Given the description of an element on the screen output the (x, y) to click on. 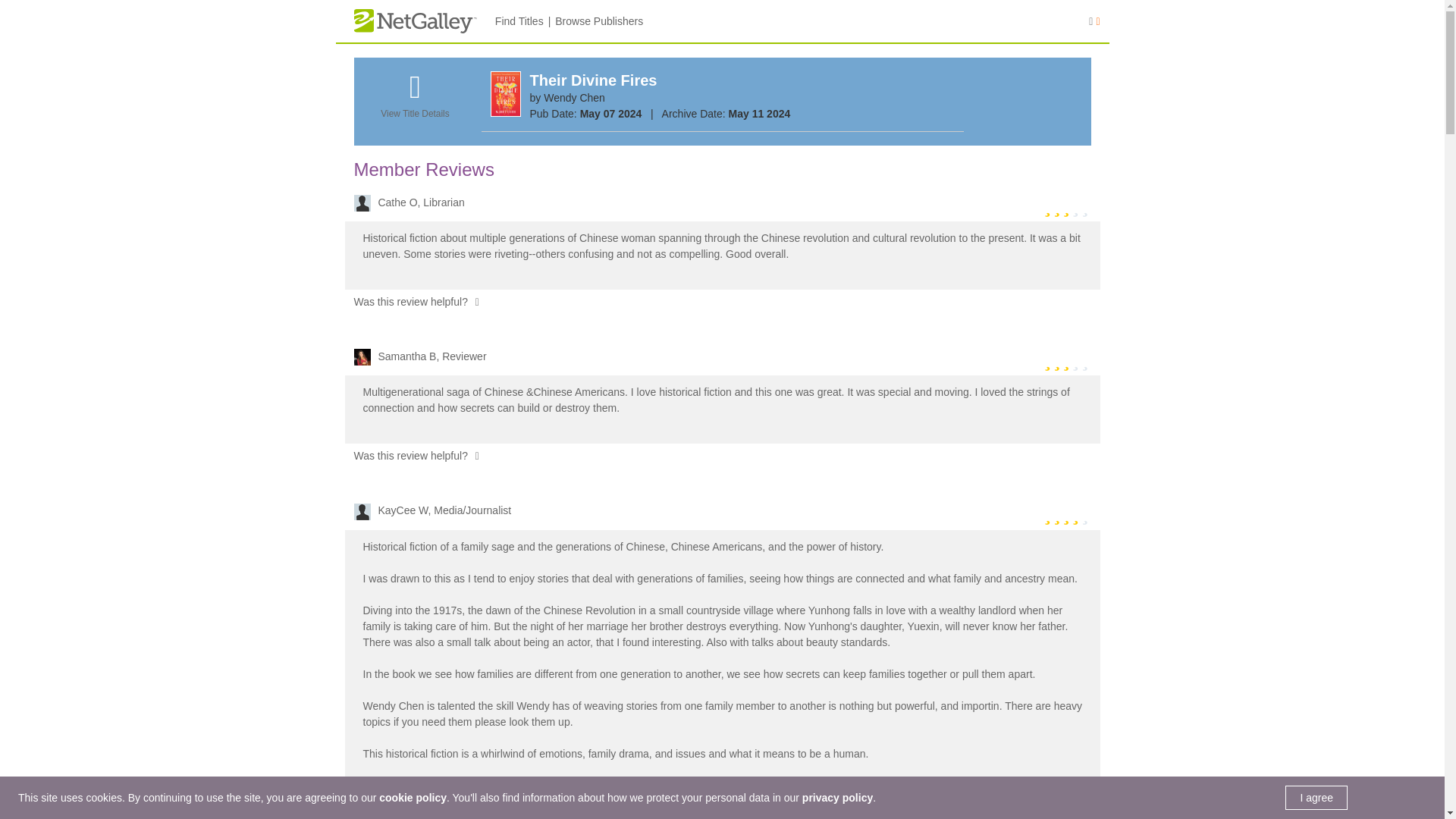
Their Divine Fires (592, 80)
View Title Details (414, 104)
Find Titles (519, 21)
Browse Publishers (598, 21)
